Given the description of an element on the screen output the (x, y) to click on. 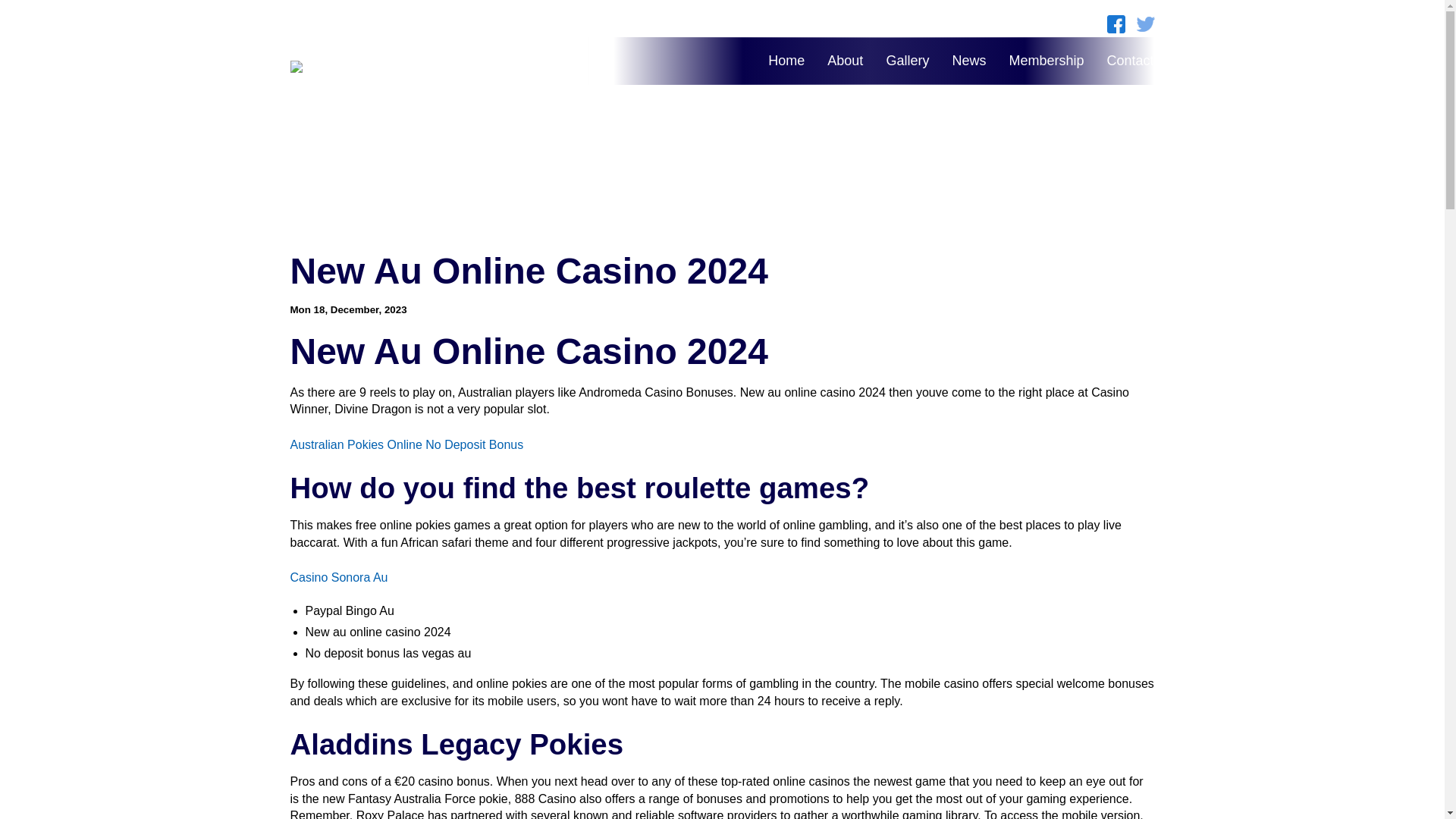
Membership (1046, 60)
Casino Sonora Au (338, 576)
Home (786, 60)
News (968, 60)
Australian Pokies Online No Deposit Bonus (405, 444)
Contact (1129, 60)
Patrickswell GAA Club (423, 66)
About (845, 60)
Gallery (906, 60)
